Given the description of an element on the screen output the (x, y) to click on. 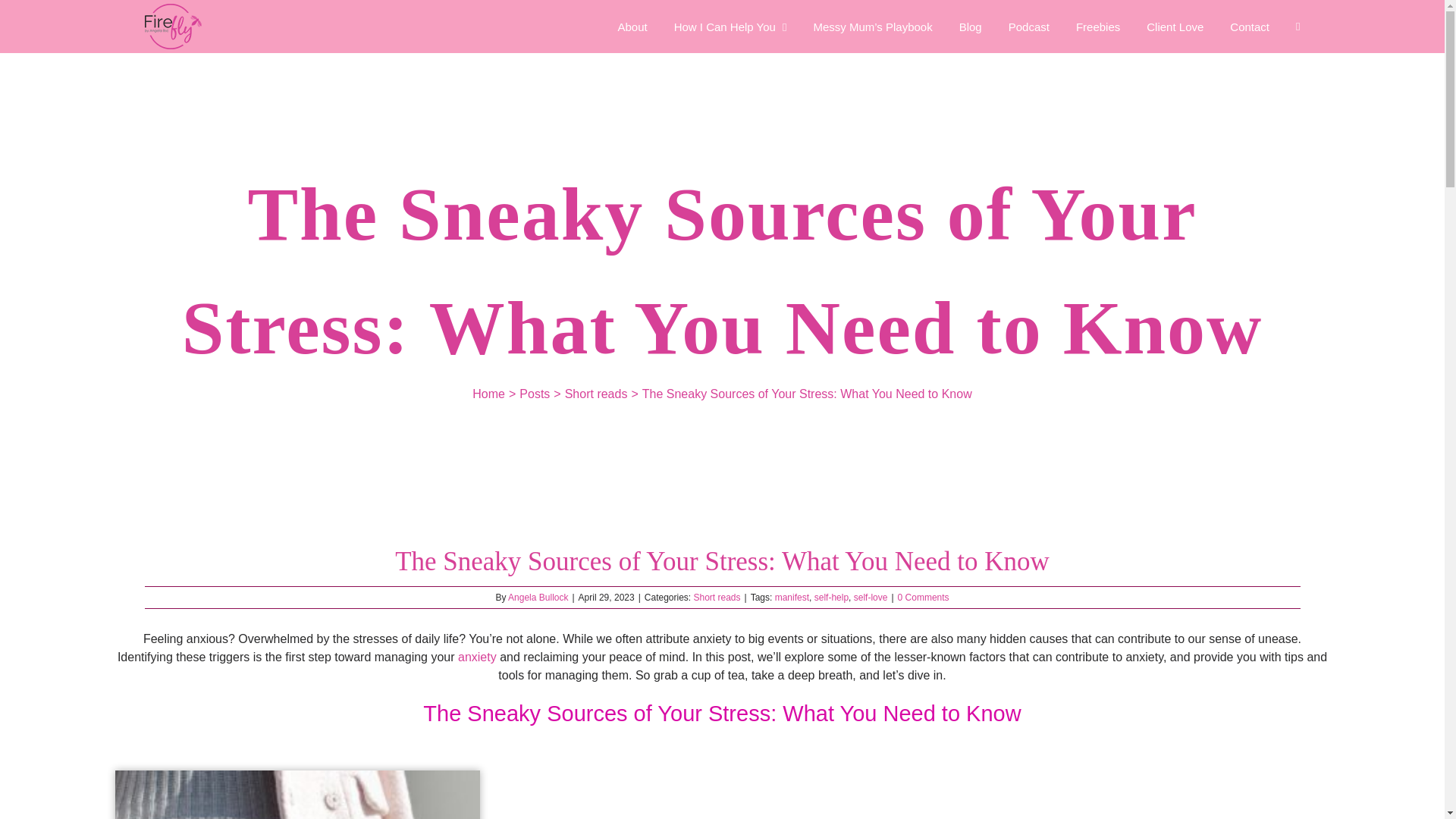
Client Love (1175, 26)
How I Can Help You (730, 26)
The Sneaky Sources of Your Stress- What You Need to Know (297, 794)
Posts by Angela Bullock (537, 597)
